Given the description of an element on the screen output the (x, y) to click on. 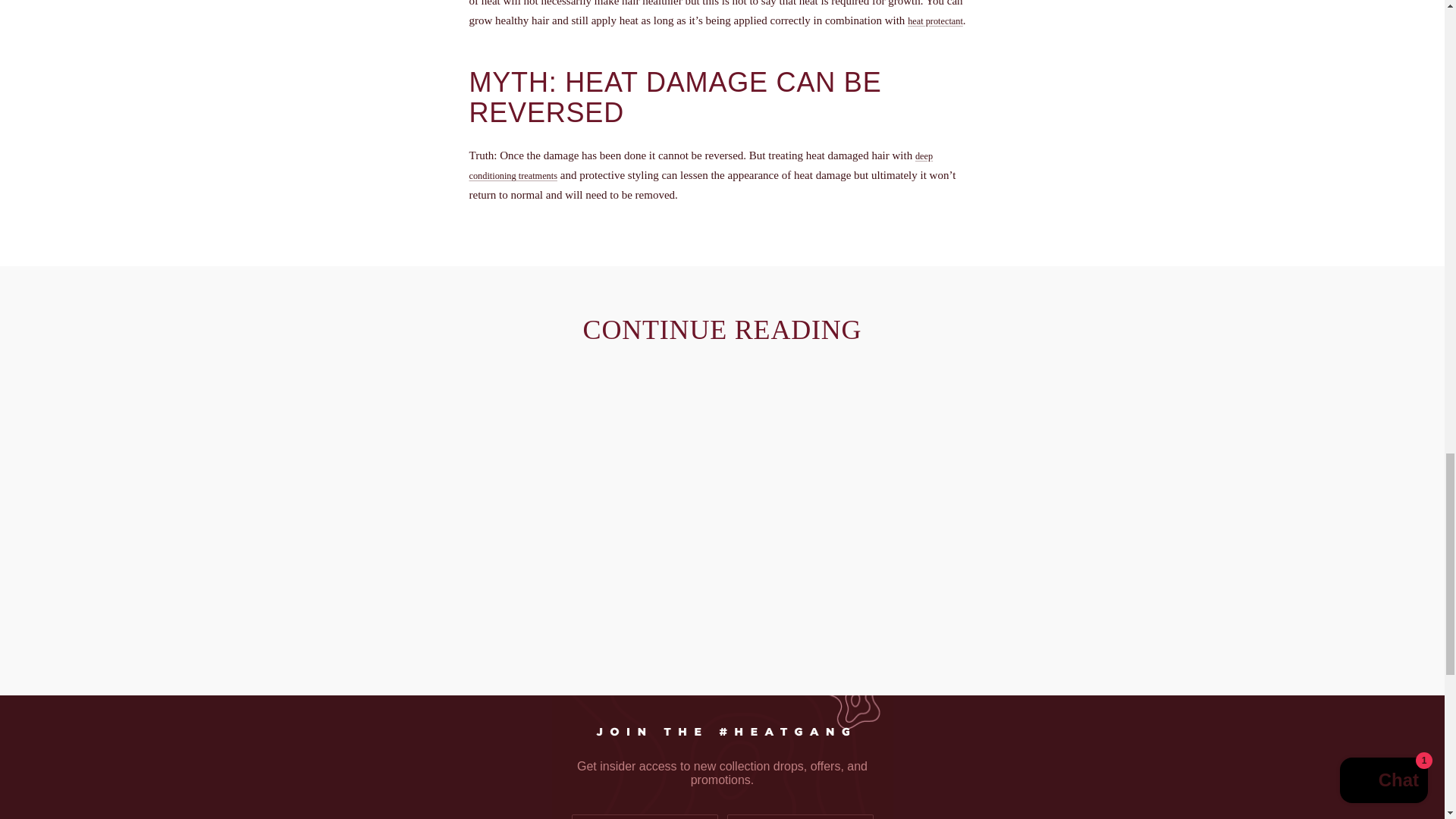
BYE BYE FRIZZ - HEAT PROTECTANT (934, 20)
SOAKED 'N SILK - HYDRATION HAIR MASQUE (700, 165)
